Given the description of an element on the screen output the (x, y) to click on. 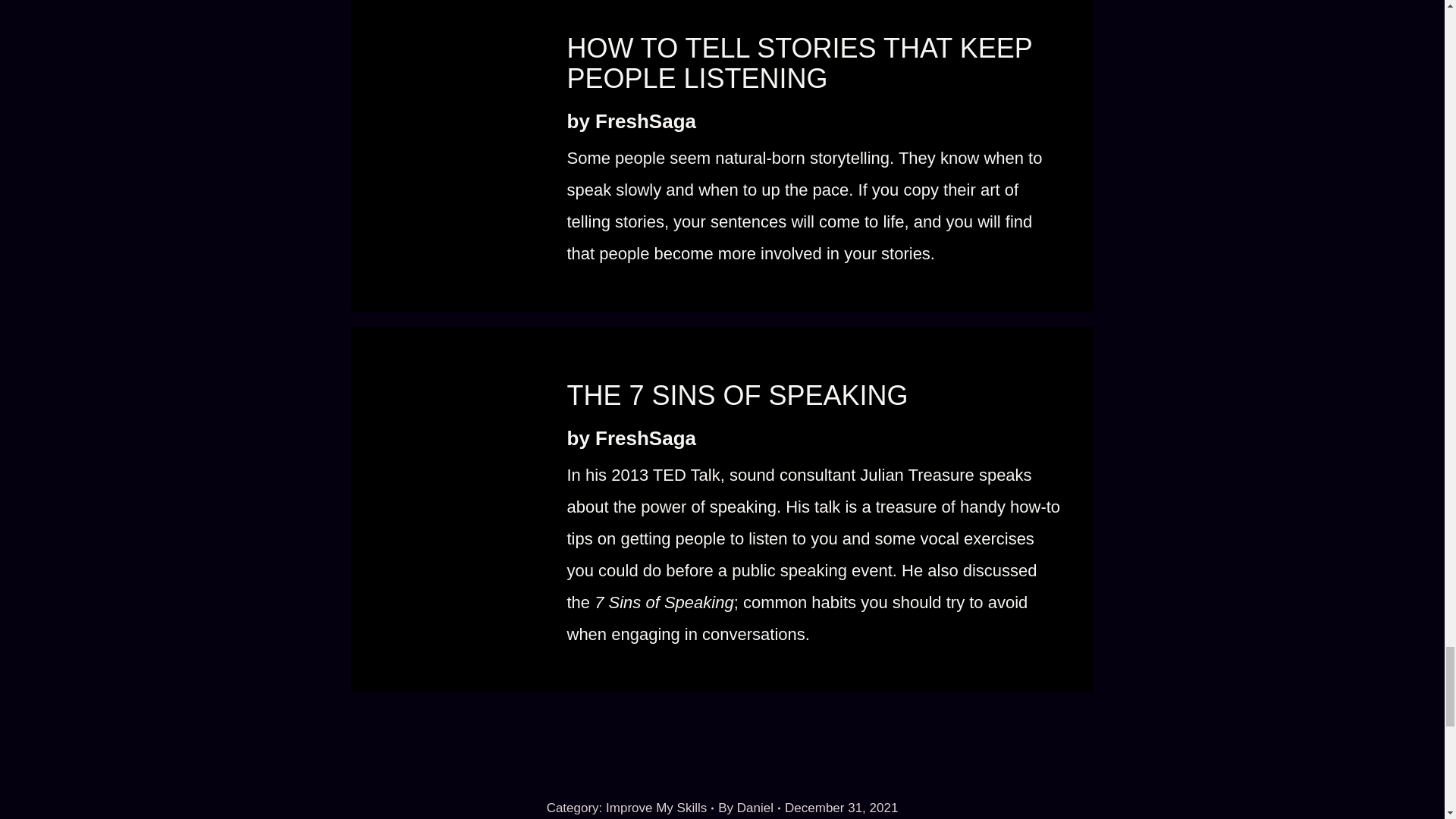
How to tell stories that people want to listen to (444, 144)
7 Sins of Speaking (444, 509)
View all posts by Daniel (748, 808)
10:13 am (841, 808)
